Given the description of an element on the screen output the (x, y) to click on. 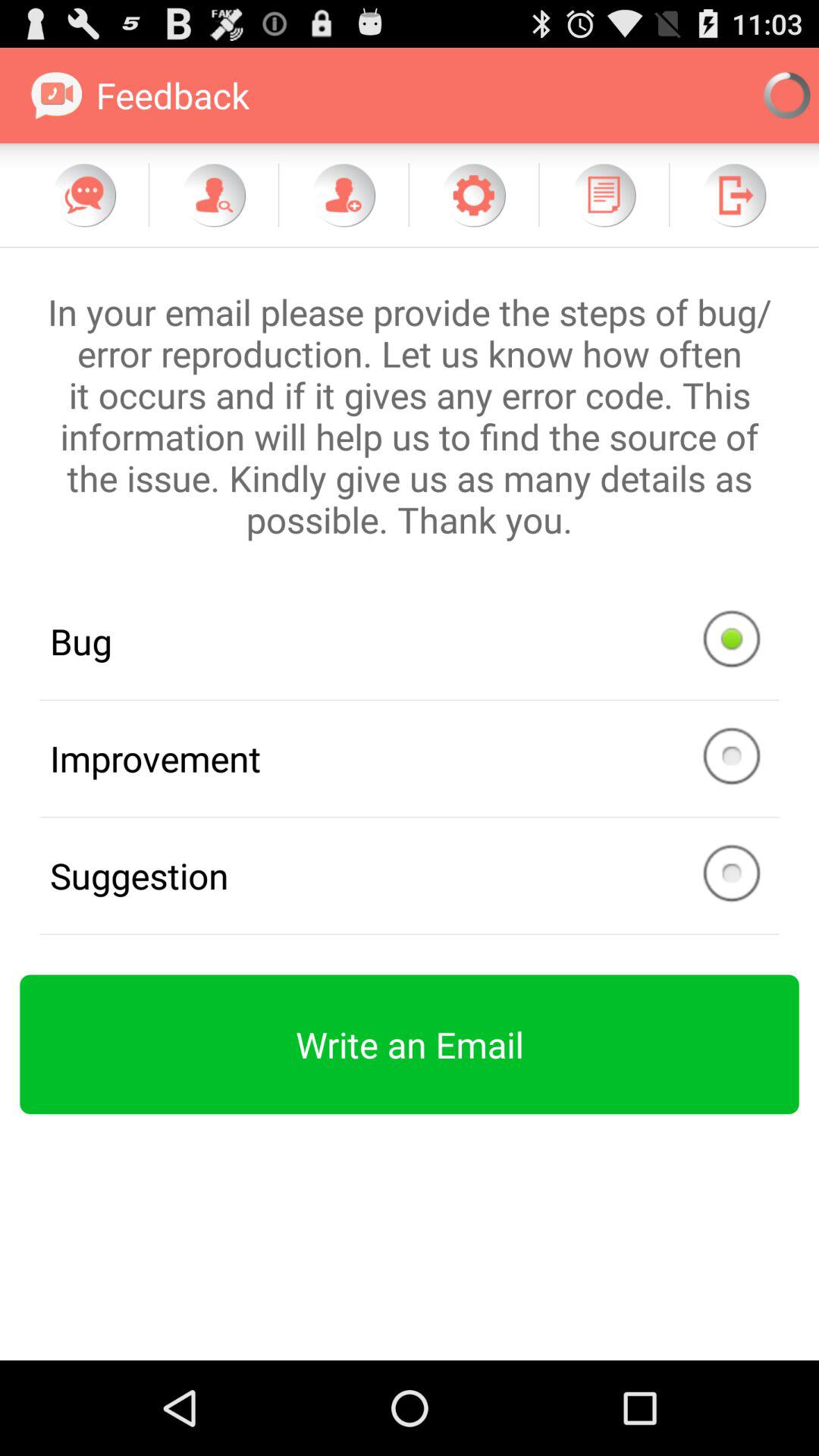
jump to improvement (409, 758)
